Given the description of an element on the screen output the (x, y) to click on. 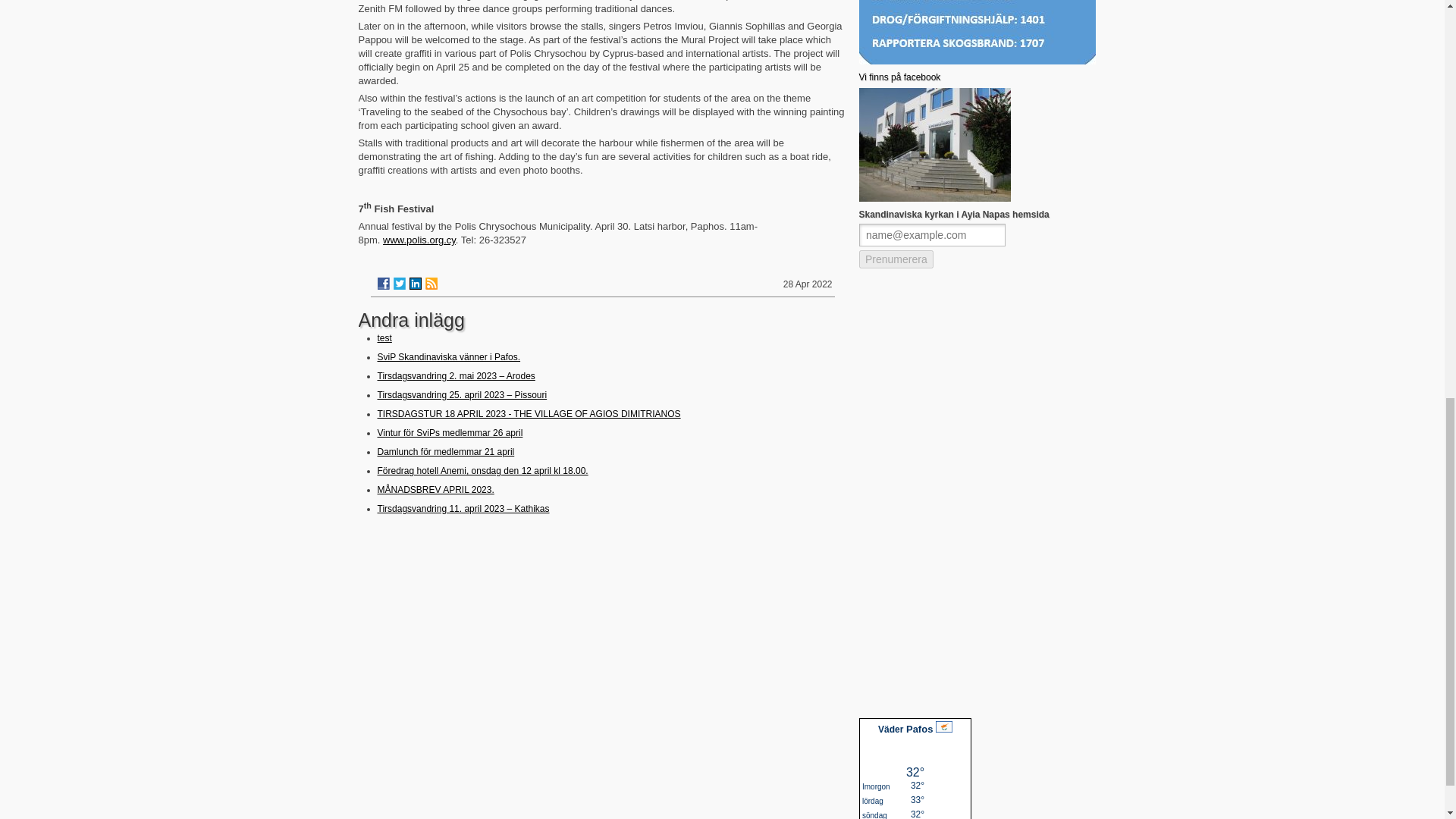
test (384, 337)
Skandin.kyrkan Ayia Napa (934, 198)
Facebook (383, 283)
Prenumerera (934, 249)
RSS (430, 283)
TIRSDAGSTUR 18 APRIL 2023 - THE VILLAGE OF AGIOS DIMITRIANOS (529, 413)
LinkedIn (415, 283)
www.polis.org.cy (418, 239)
Facebbo (899, 77)
Twitter (398, 283)
